Given the description of an element on the screen output the (x, y) to click on. 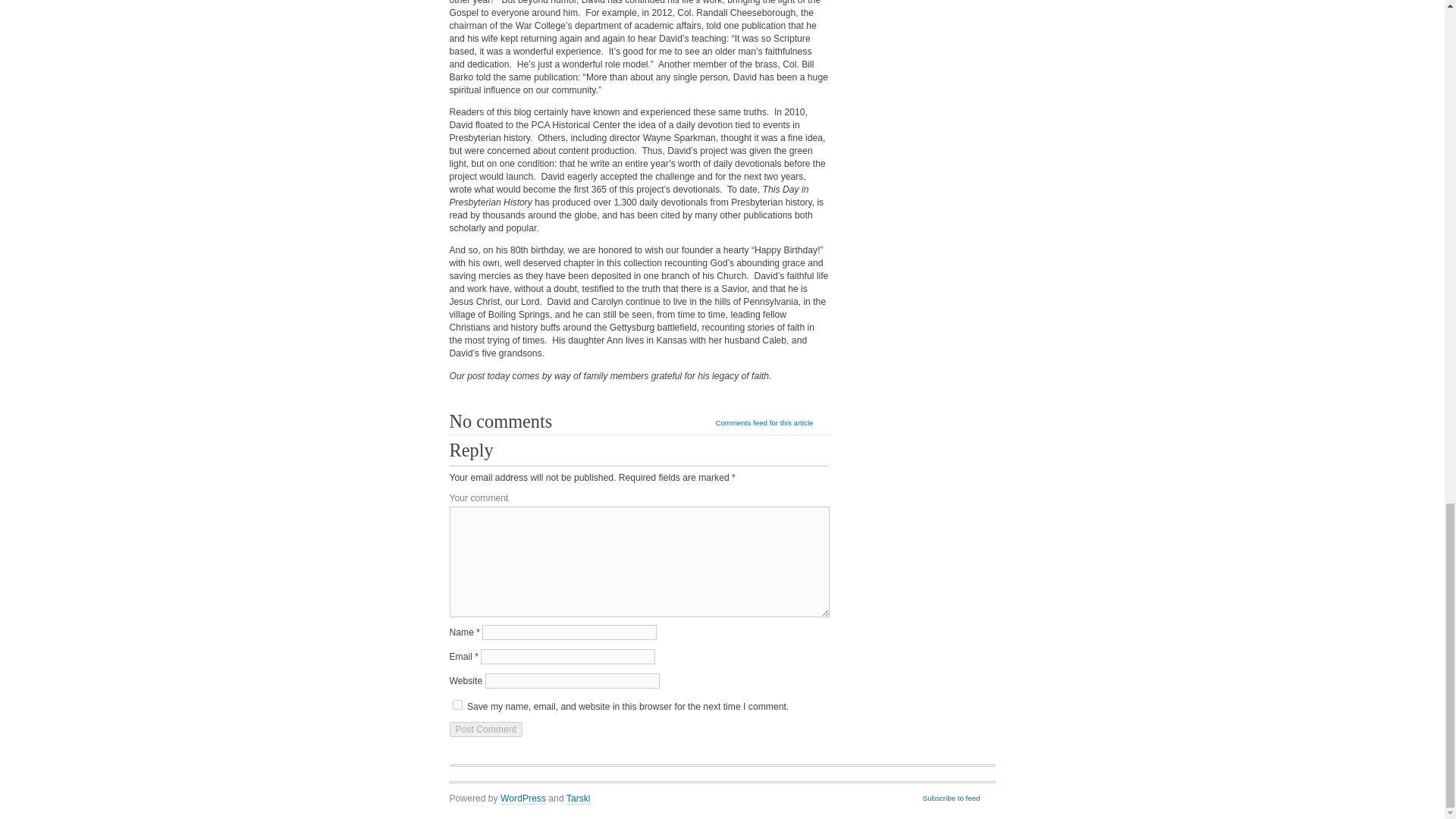
Comments feed for this article (771, 423)
Subscribe to feed (959, 798)
Tarski (578, 798)
Post Comment (484, 729)
Post Comment (484, 729)
yes (456, 705)
WordPress (523, 798)
